Given the description of an element on the screen output the (x, y) to click on. 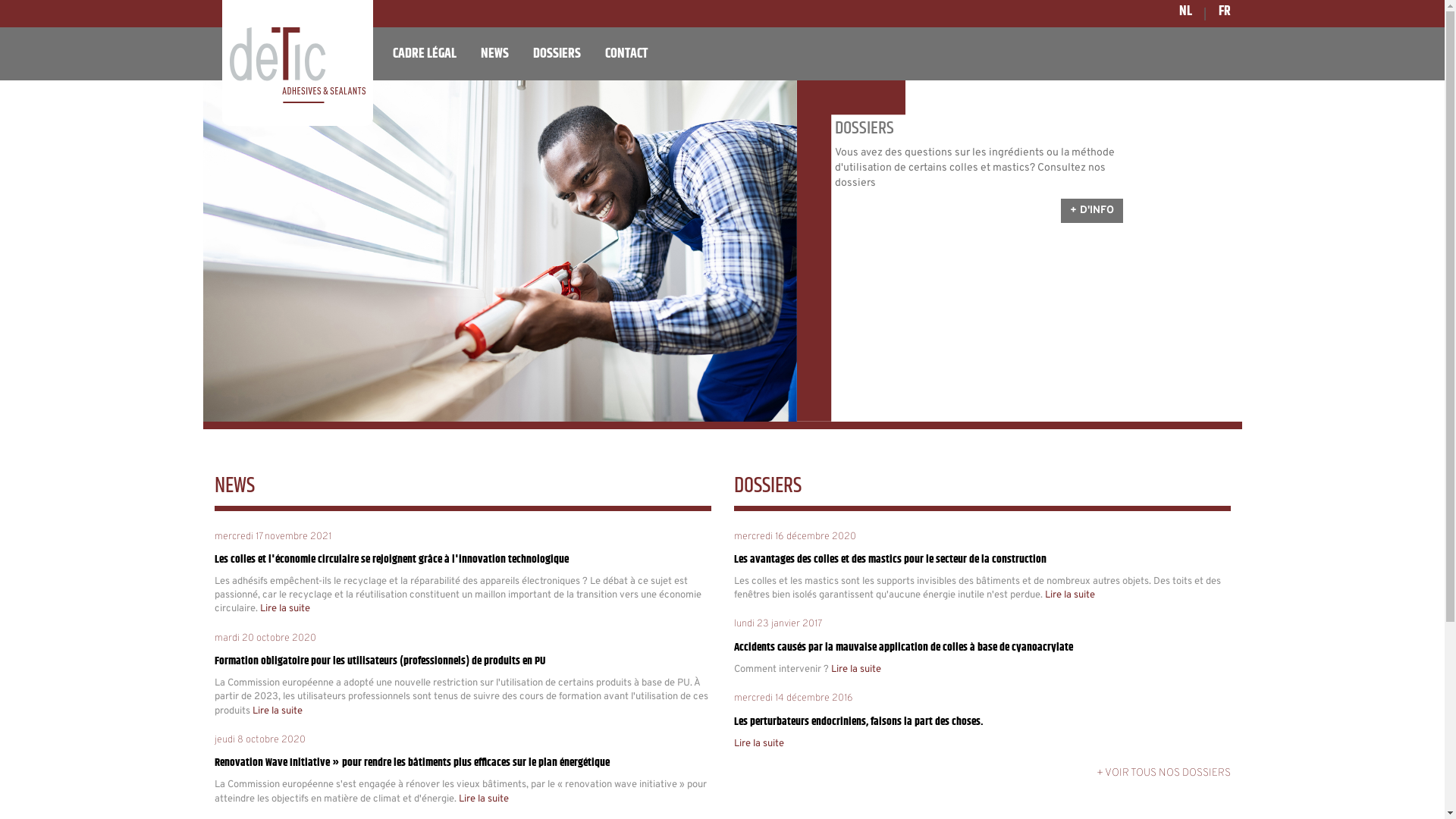
Lire la suite Element type: text (276, 711)
+ VOIR TOUS NOS DOSSIERS Element type: text (1163, 773)
NL Element type: text (1185, 10)
DOSSIERS Element type: text (556, 53)
Lire la suite Element type: text (483, 798)
FR Element type: text (1224, 10)
Lire la suite Element type: text (284, 608)
NEWS Element type: text (494, 53)
+ D'INFO Element type: text (1091, 210)
CONTACT Element type: text (625, 53)
Lire la suite Element type: text (1069, 595)
Lire la suite Element type: text (856, 669)
Lire la suite Element type: text (759, 743)
logo Element type: hover (297, 65)
